Given the description of an element on the screen output the (x, y) to click on. 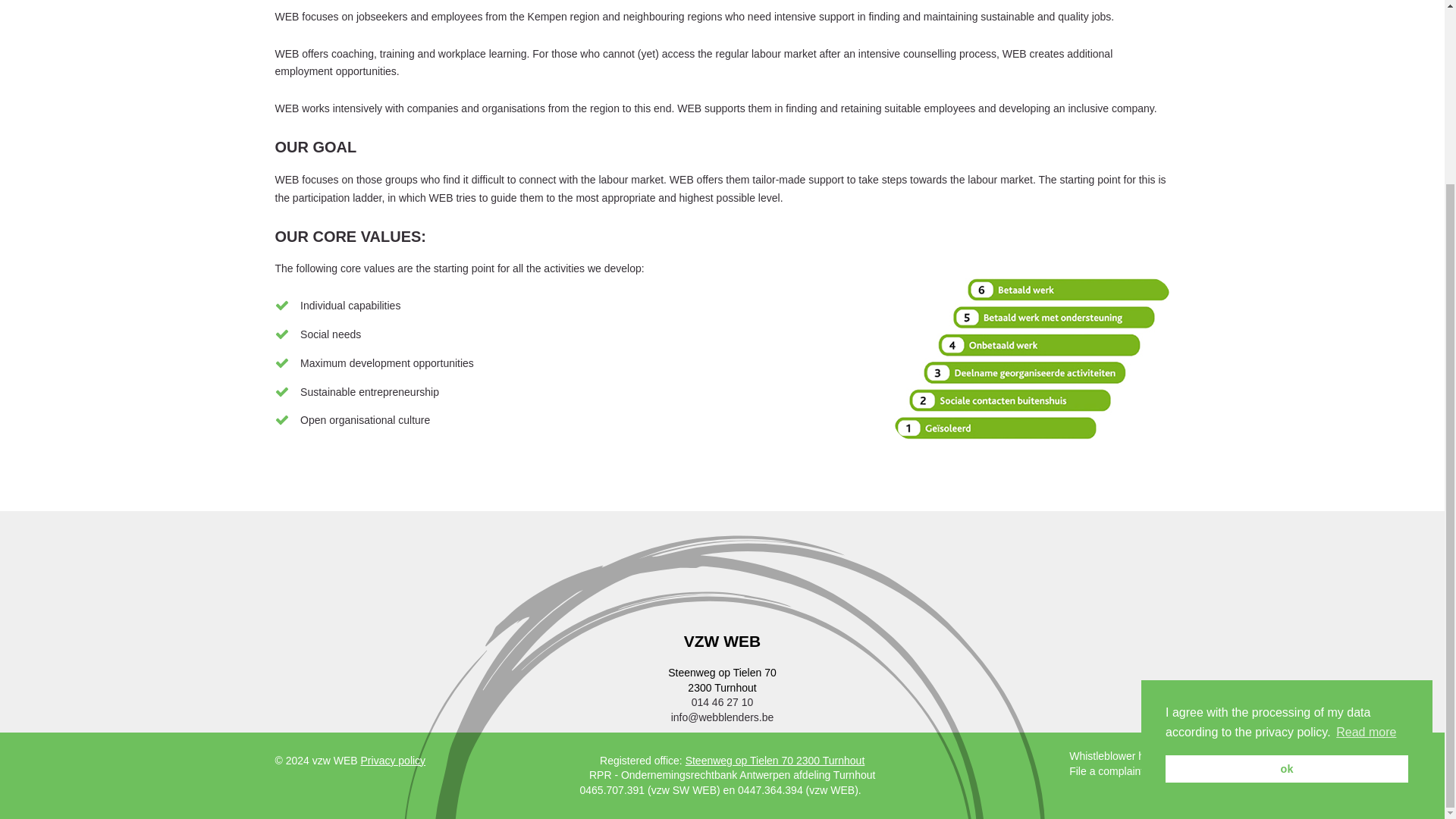
File a complaint (1105, 770)
Whistleblower hotline (1118, 756)
014 46 27 10 (722, 702)
Steenweg op Tielen 70 2300 Turnhout (774, 760)
ok (1286, 542)
Privacy policy (393, 760)
Read more (1366, 505)
